Given the description of an element on the screen output the (x, y) to click on. 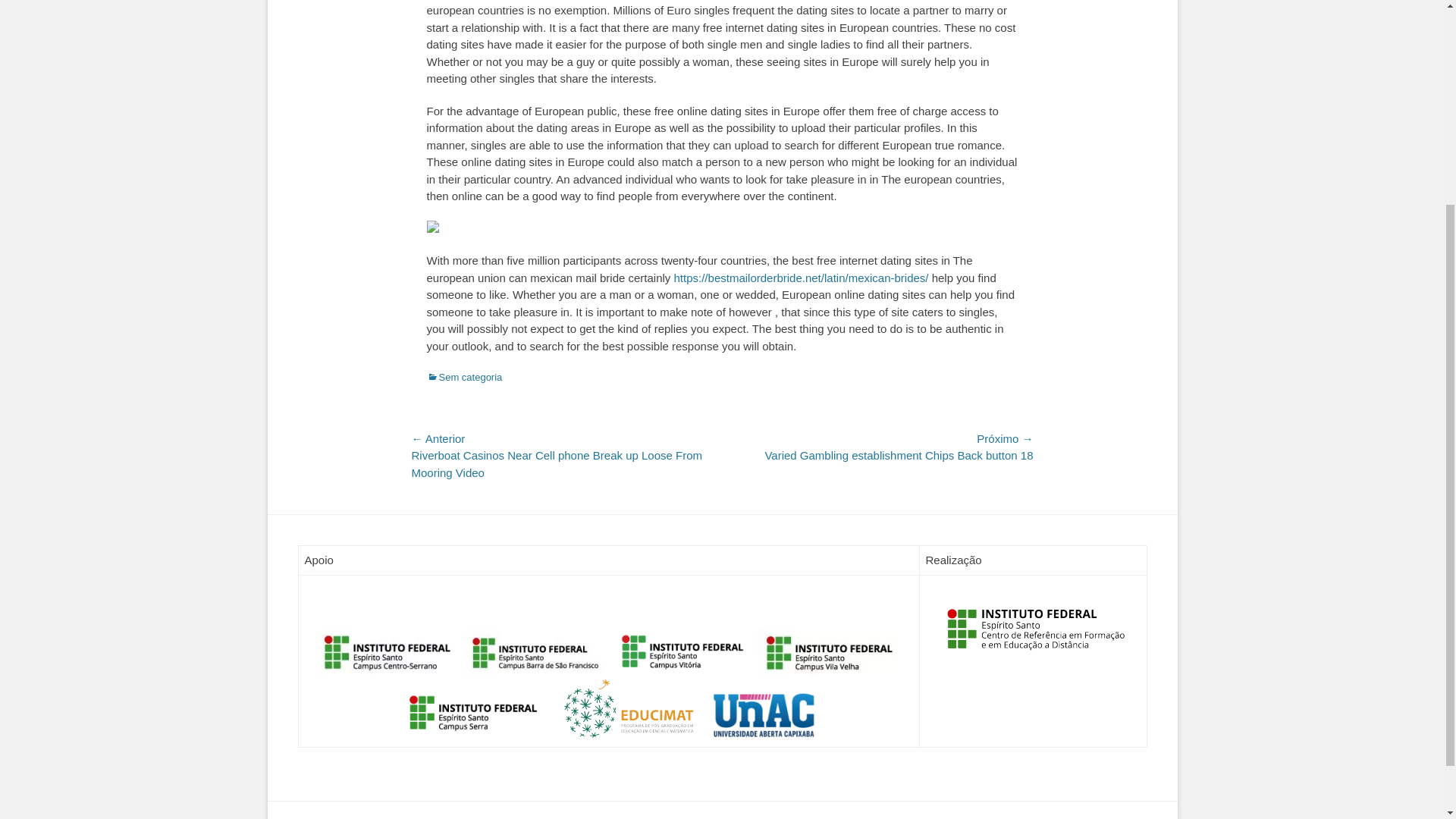
Sem categoria (464, 377)
